Given the description of an element on the screen output the (x, y) to click on. 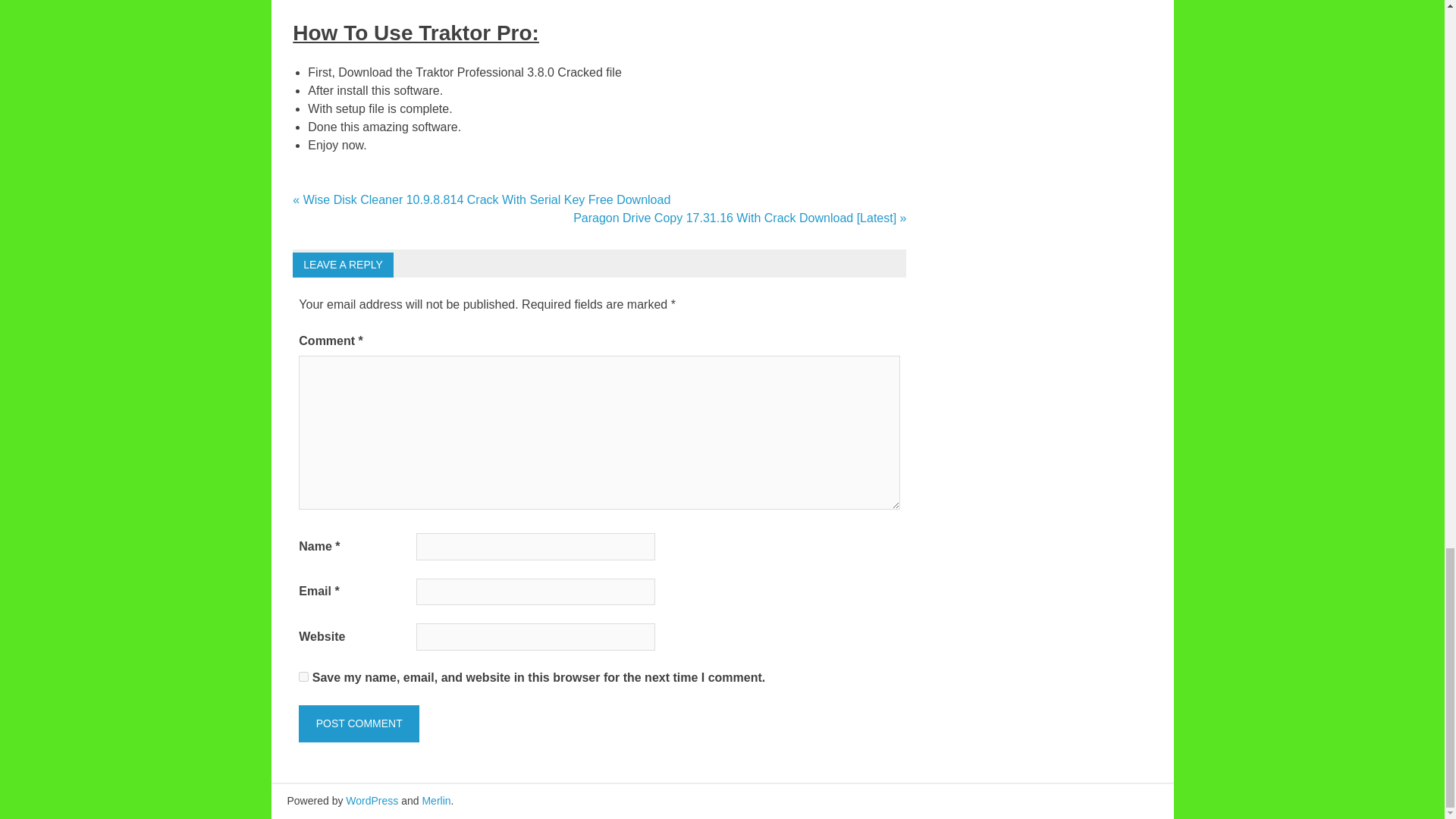
Post Comment (358, 723)
WordPress (371, 800)
Merlin WordPress Theme (435, 800)
Post Comment (358, 723)
yes (303, 676)
